Given the description of an element on the screen output the (x, y) to click on. 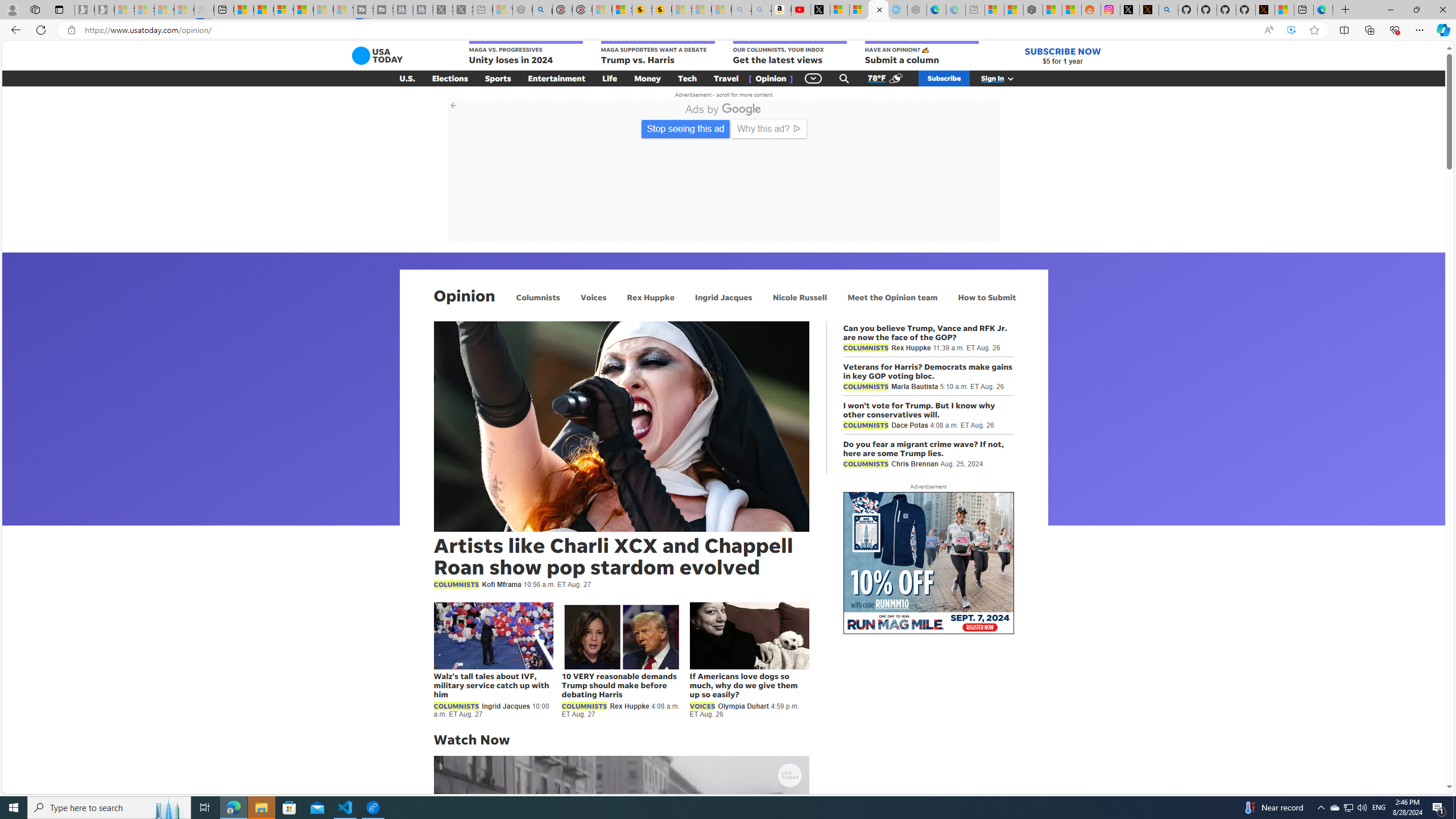
OUR COLUMNISTS, YOUR INBOX Get the latest views (789, 53)
How to Submit (986, 296)
Ingrid Jacques (723, 296)
Nordace - Summer Adventures 2024 - Sleeping (522, 9)
Wildlife - MSN - Sleeping (501, 9)
